Given the description of an element on the screen output the (x, y) to click on. 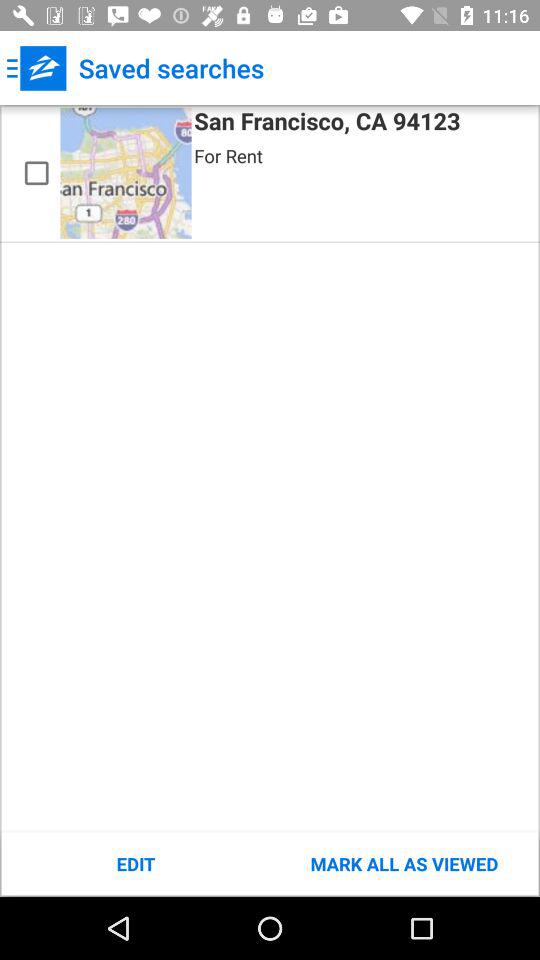
turn on mark all as item (404, 863)
